Given the description of an element on the screen output the (x, y) to click on. 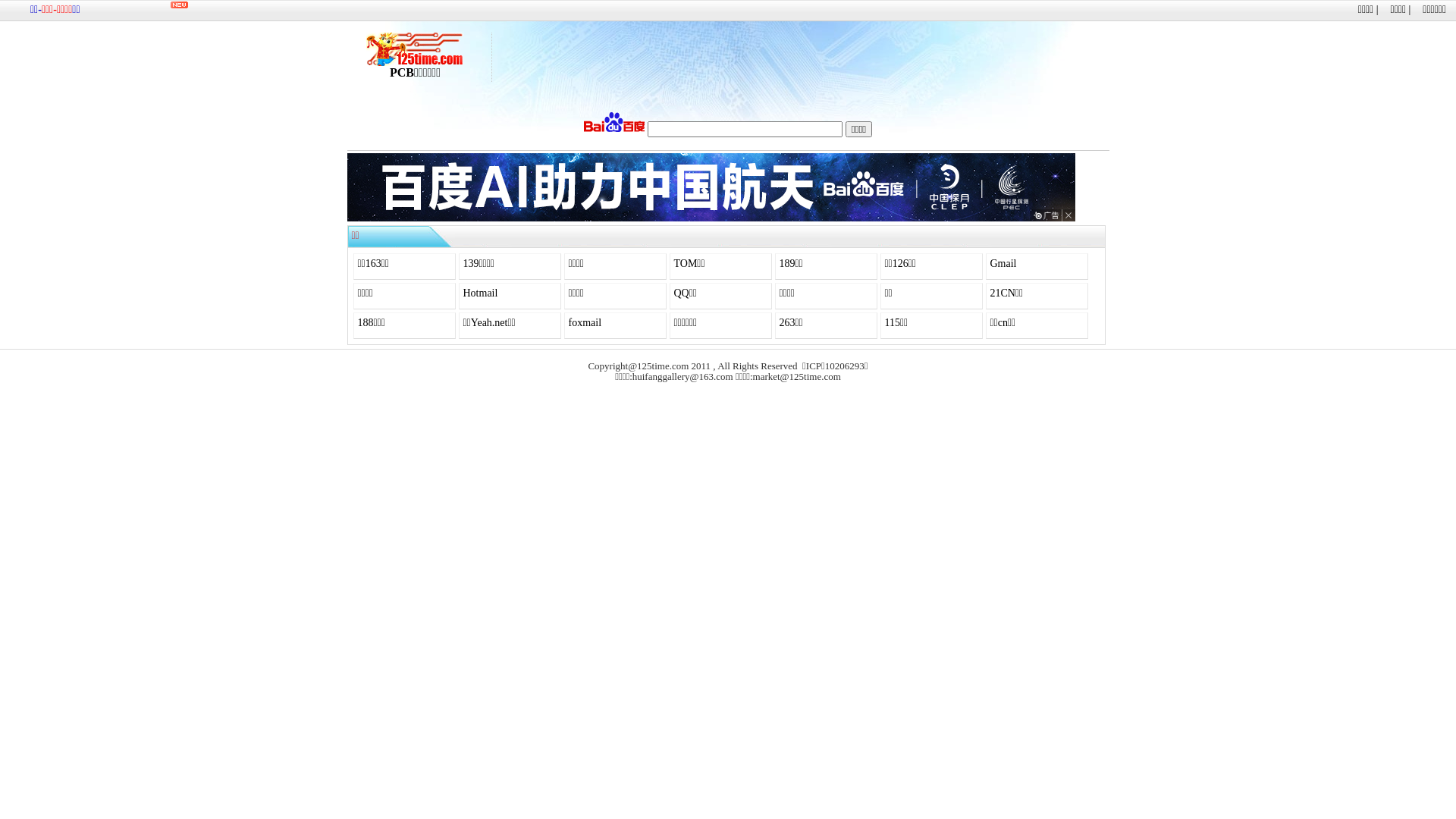
Hotmail Element type: text (479, 292)
Gmail Element type: text (1003, 263)
foxmail Element type: text (585, 322)
